Given the description of an element on the screen output the (x, y) to click on. 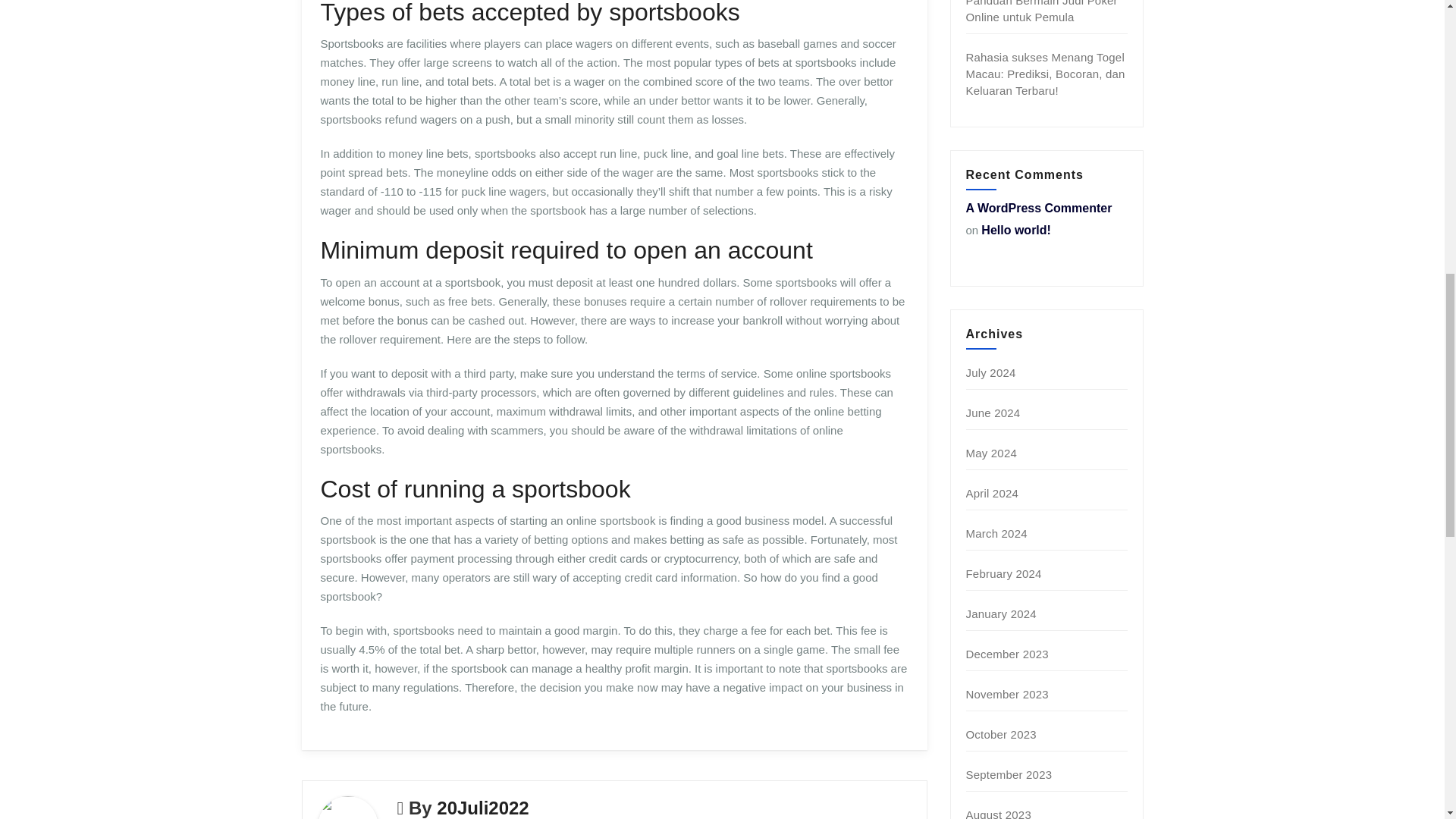
20Juli2022 (482, 807)
March 2024 (996, 533)
July 2024 (991, 372)
April 2024 (992, 492)
May 2024 (991, 452)
November 2023 (1007, 694)
October 2023 (1001, 734)
February 2024 (1004, 573)
September 2023 (1009, 774)
December 2023 (1007, 653)
January 2024 (1001, 613)
August 2023 (998, 813)
Hello world! (1016, 229)
Panduan Bermain Judi Poker Online untuk Pemula (1042, 11)
